Given the description of an element on the screen output the (x, y) to click on. 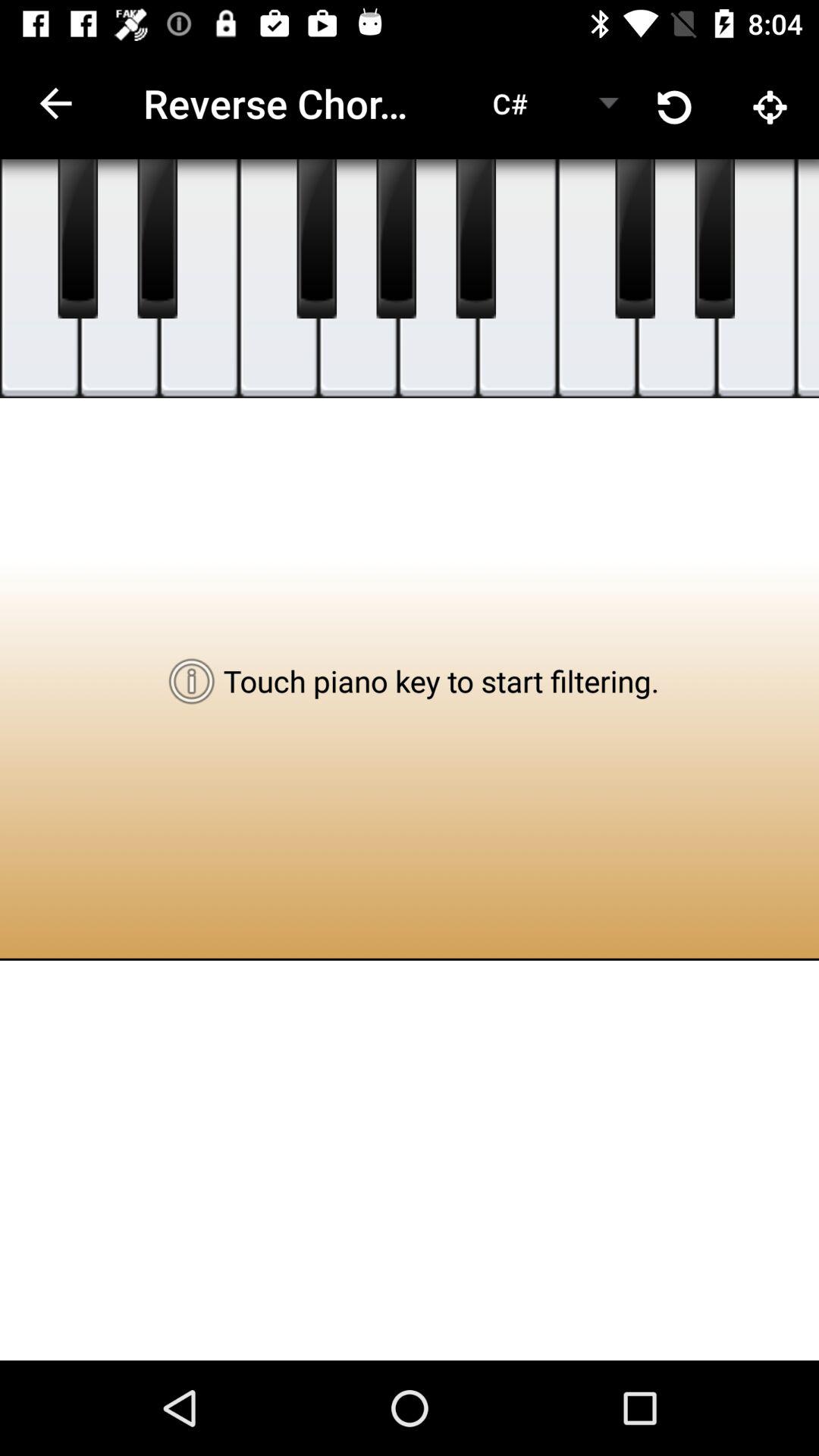
eb piano key (714, 238)
